Given the description of an element on the screen output the (x, y) to click on. 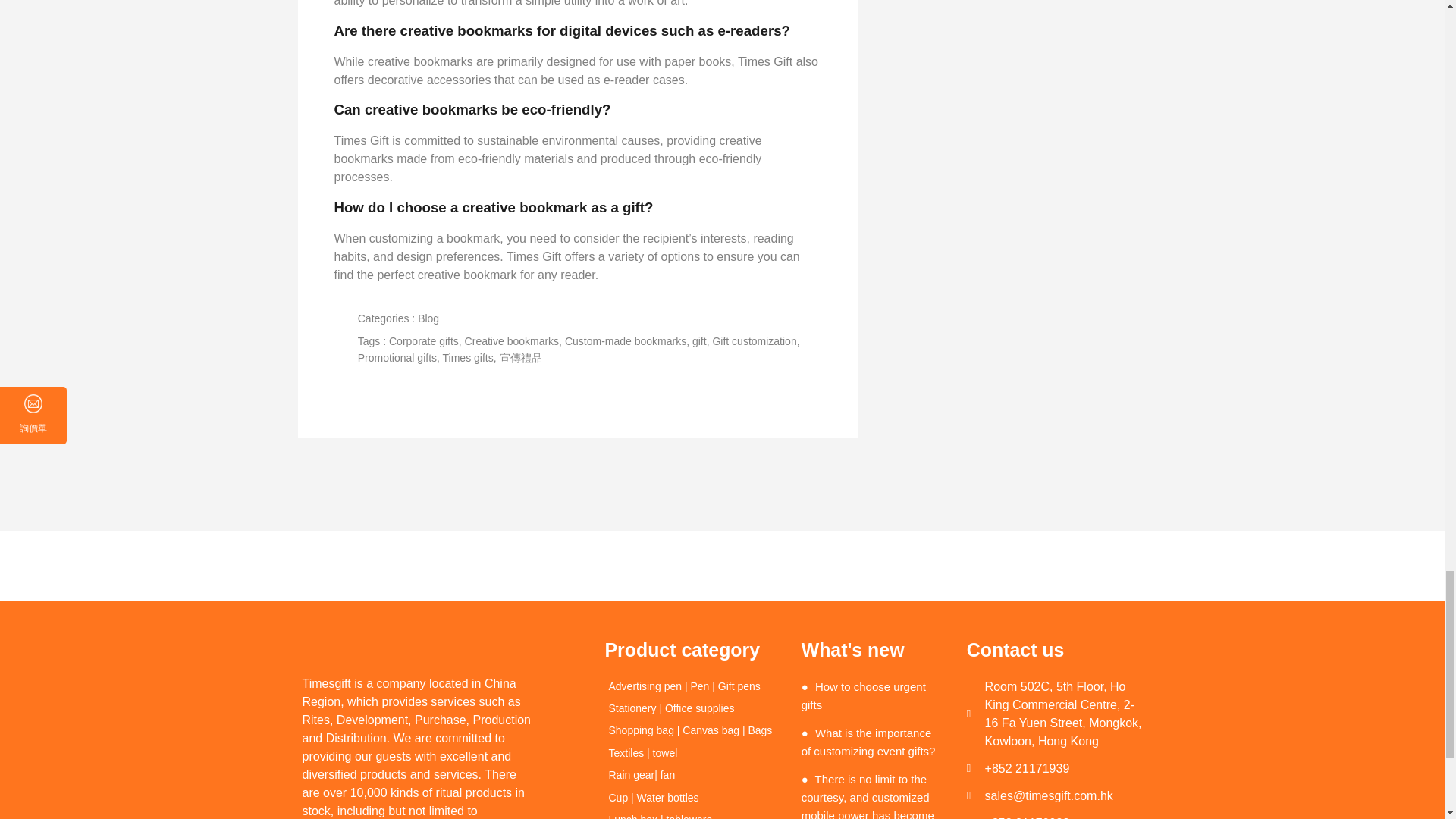
What's new (872, 649)
Product category (691, 649)
Contact us (1054, 649)
